Given the description of an element on the screen output the (x, y) to click on. 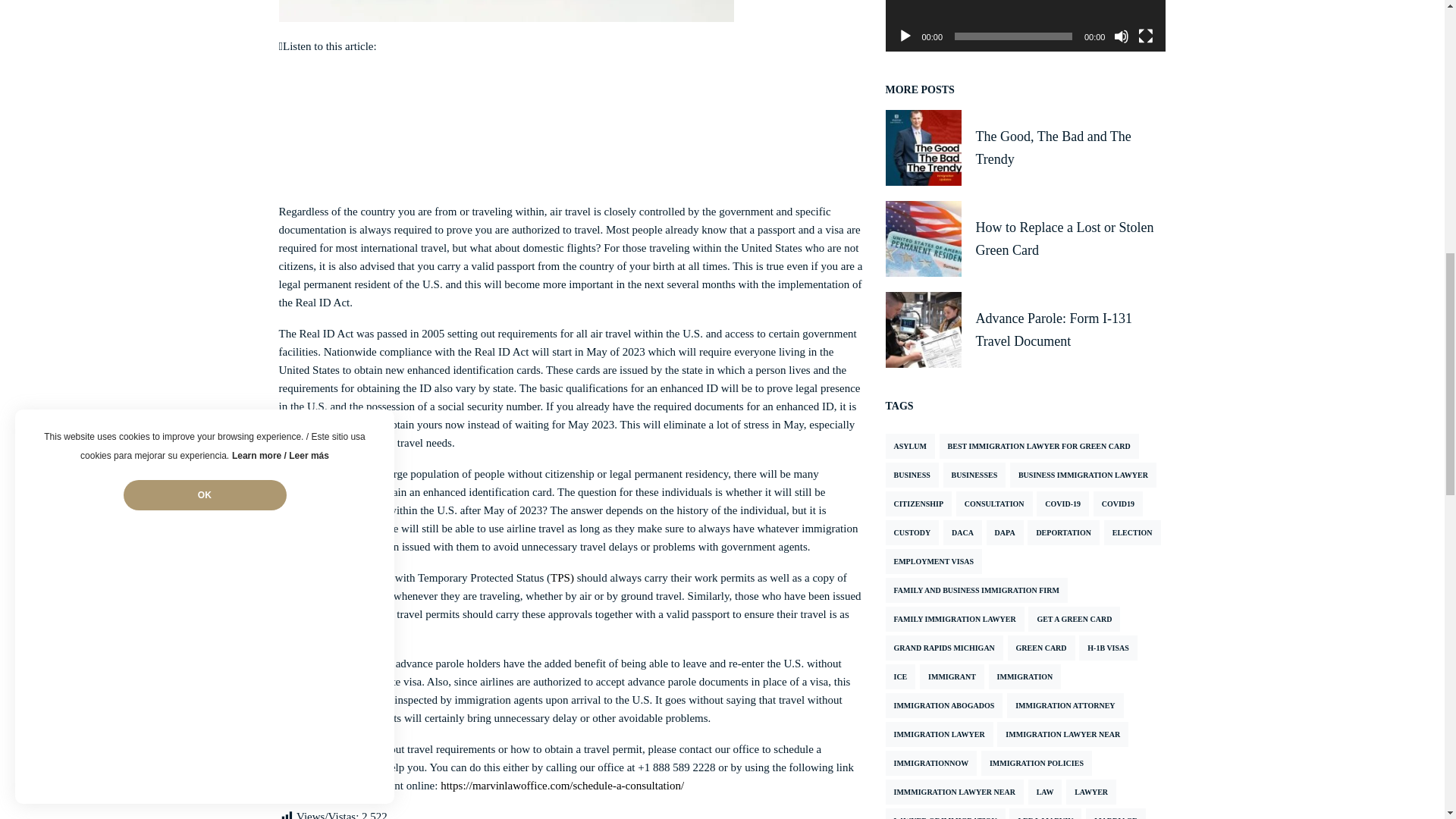
OK (203, 96)
Fullscreen (1145, 36)
Play (905, 36)
Mute (1121, 36)
